Given the description of an element on the screen output the (x, y) to click on. 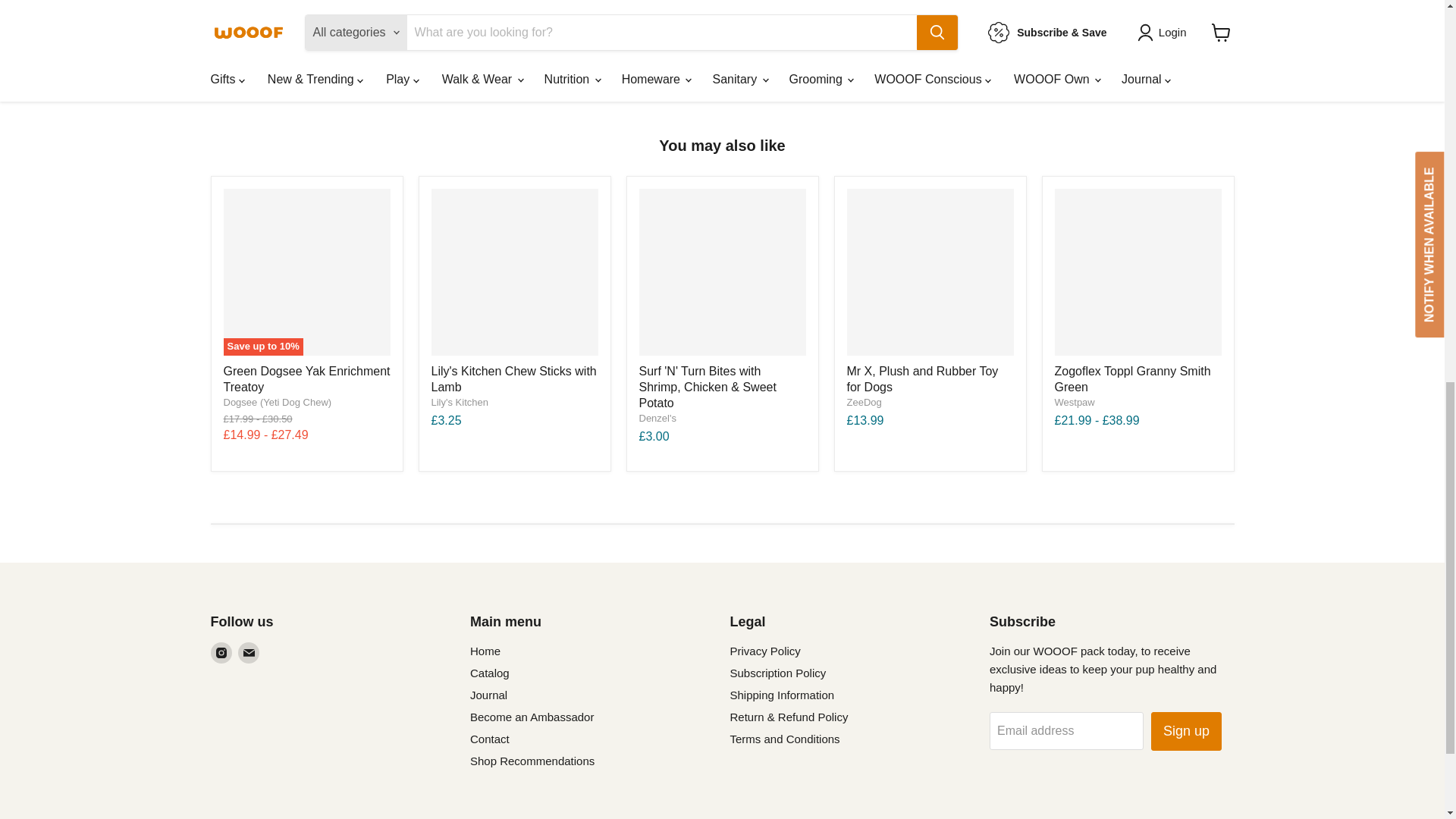
Email (248, 652)
Westpaw (1074, 401)
Lily's Kitchen (458, 401)
Denzel's (657, 418)
Instagram (221, 652)
ZeeDog (862, 401)
